Given the description of an element on the screen output the (x, y) to click on. 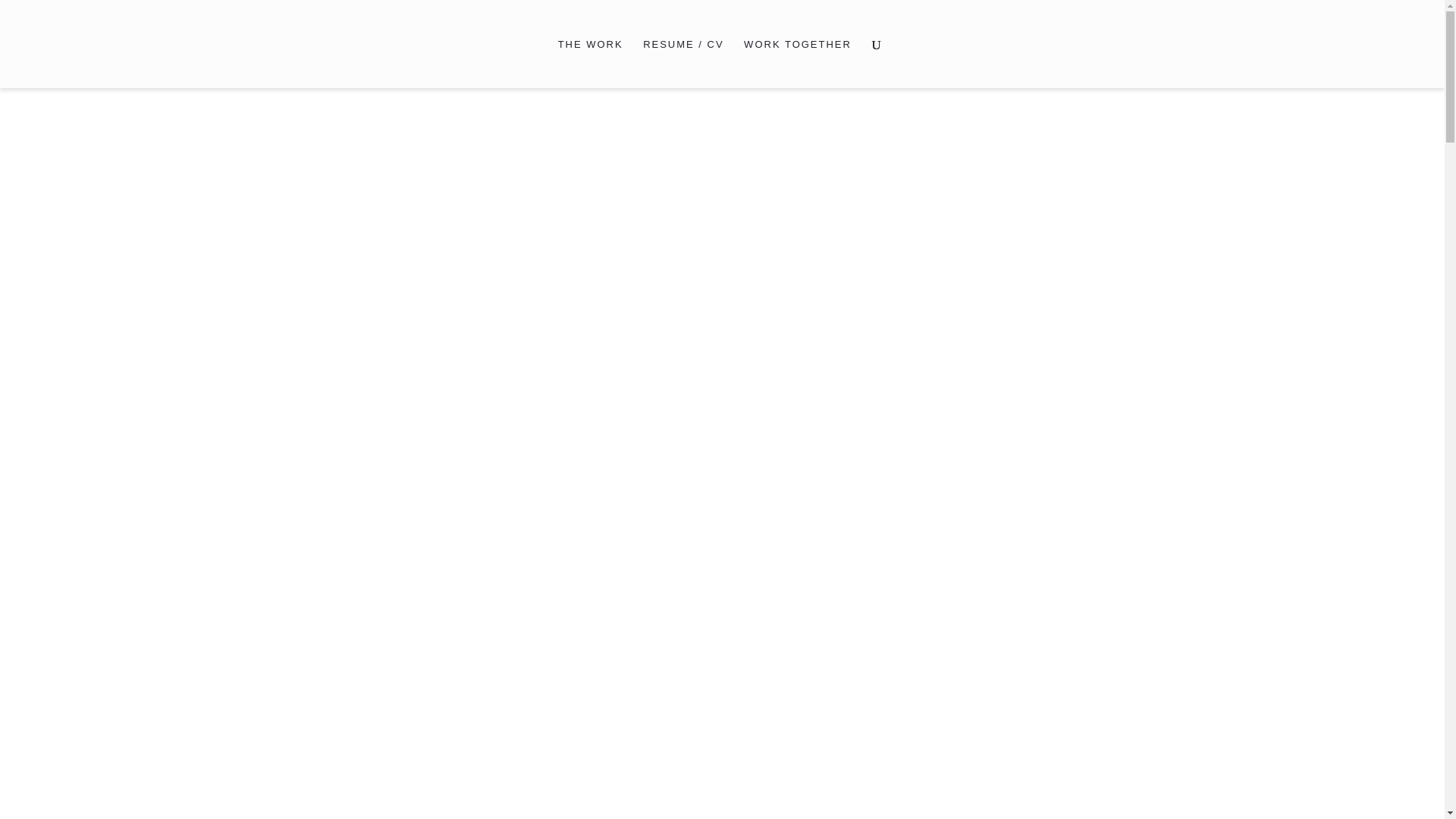
WORK TOGETHER (797, 63)
THE WORK (590, 63)
